Given the description of an element on the screen output the (x, y) to click on. 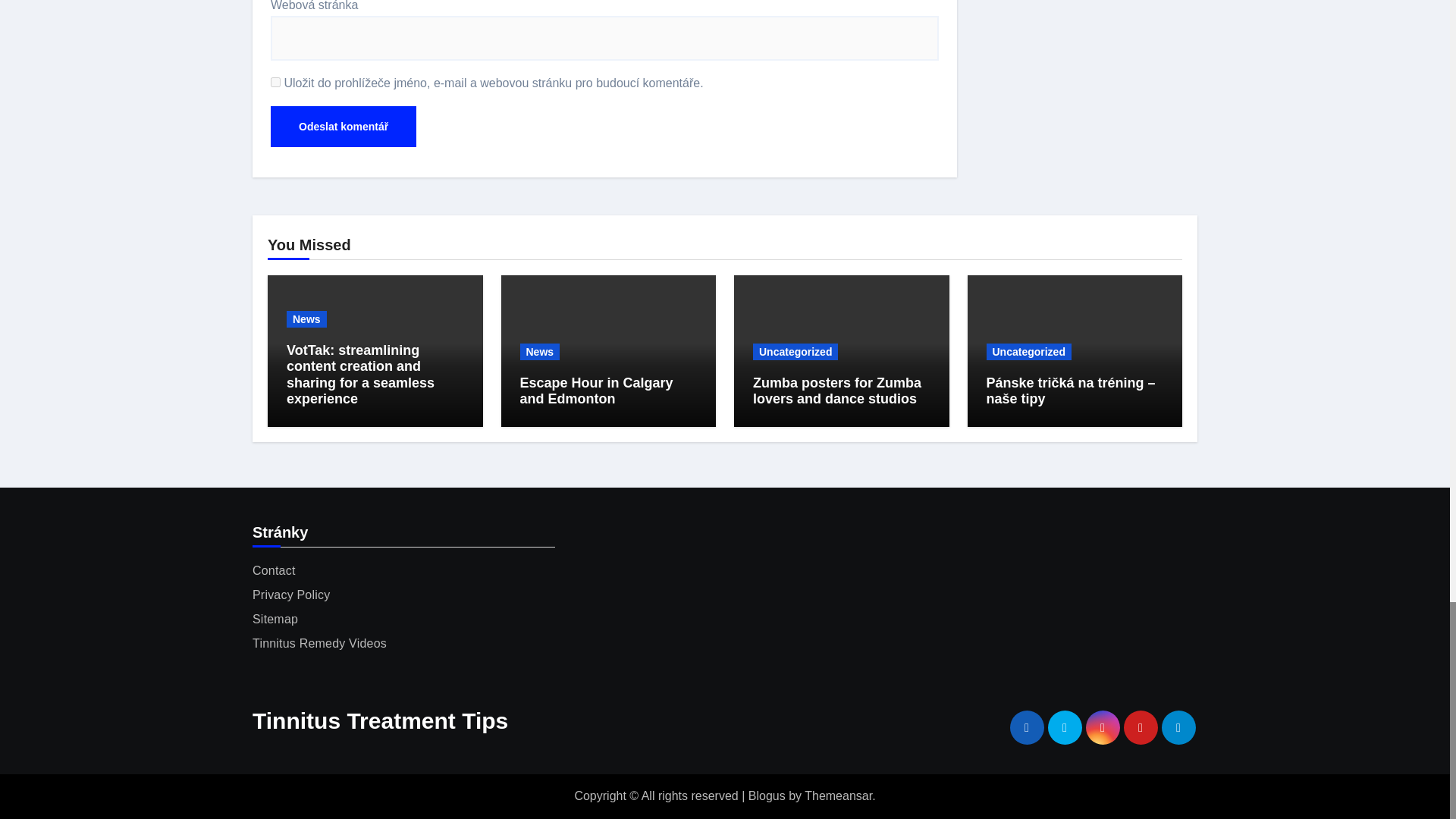
yes (275, 81)
Permalink to: Escape Hour in Calgary and Edmonton (595, 391)
